Given the description of an element on the screen output the (x, y) to click on. 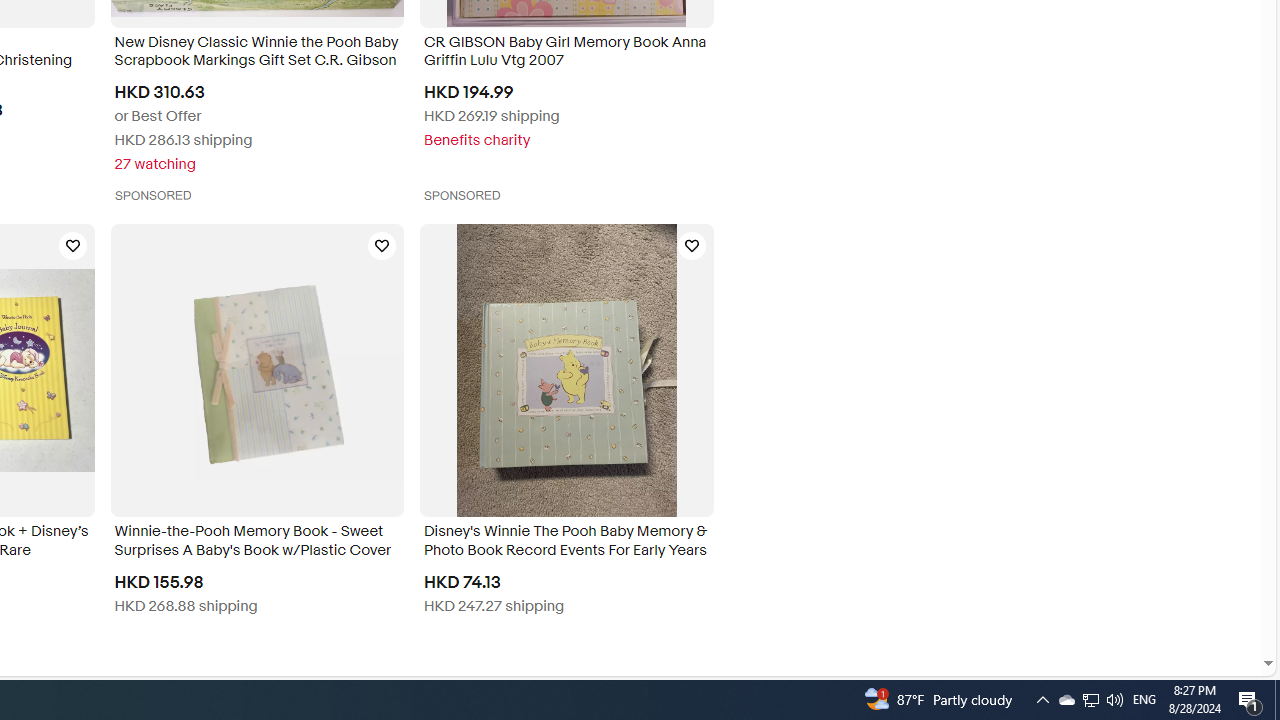
CR GIBSON Baby Girl Memory Book Anna Griffin Lulu Vtg 2007 (566, 53)
